Given the description of an element on the screen output the (x, y) to click on. 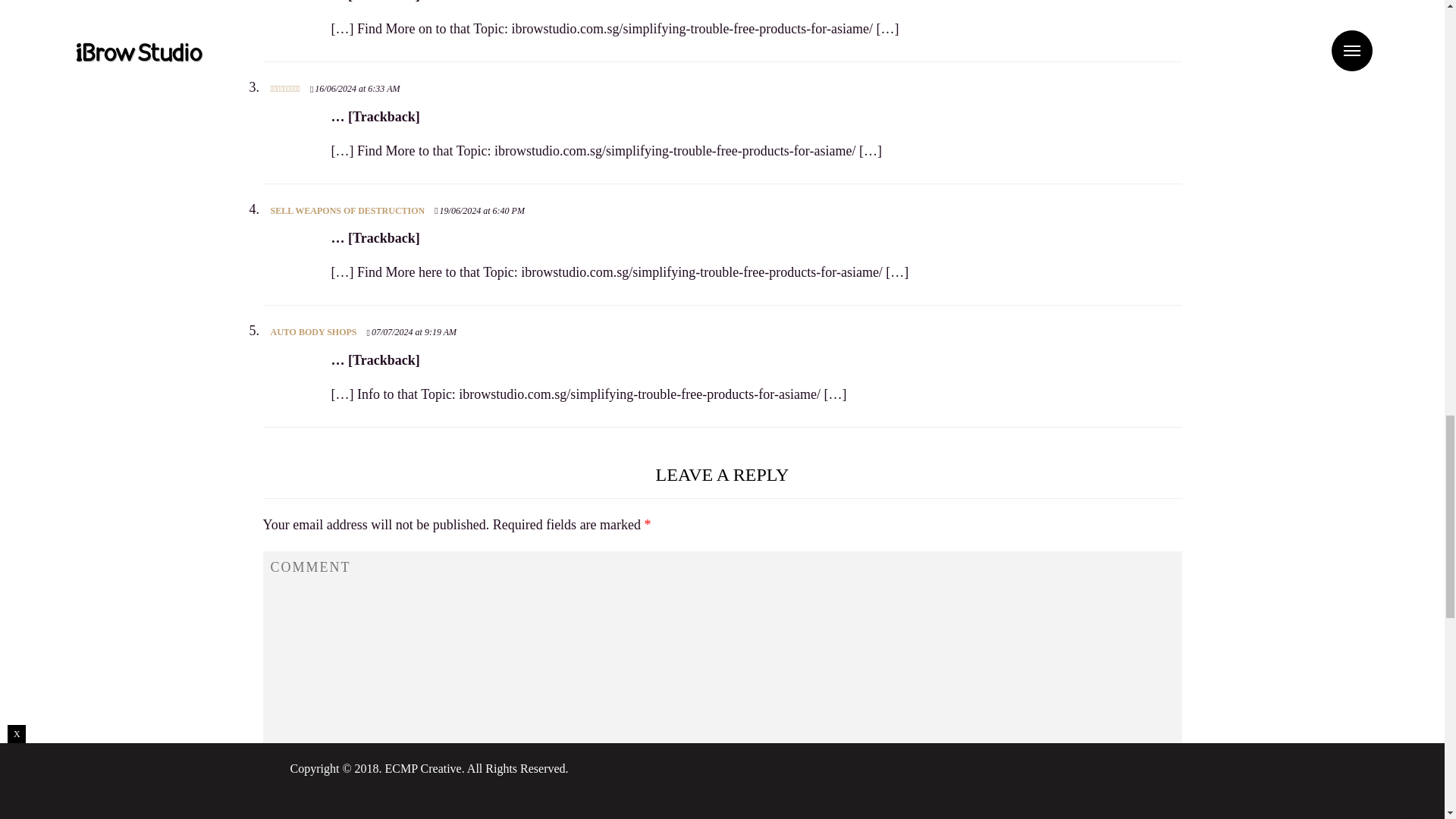
SELL WEAPONS OF DESTRUCTION (347, 210)
AUTO BODY SHOPS (312, 331)
